Given the description of an element on the screen output the (x, y) to click on. 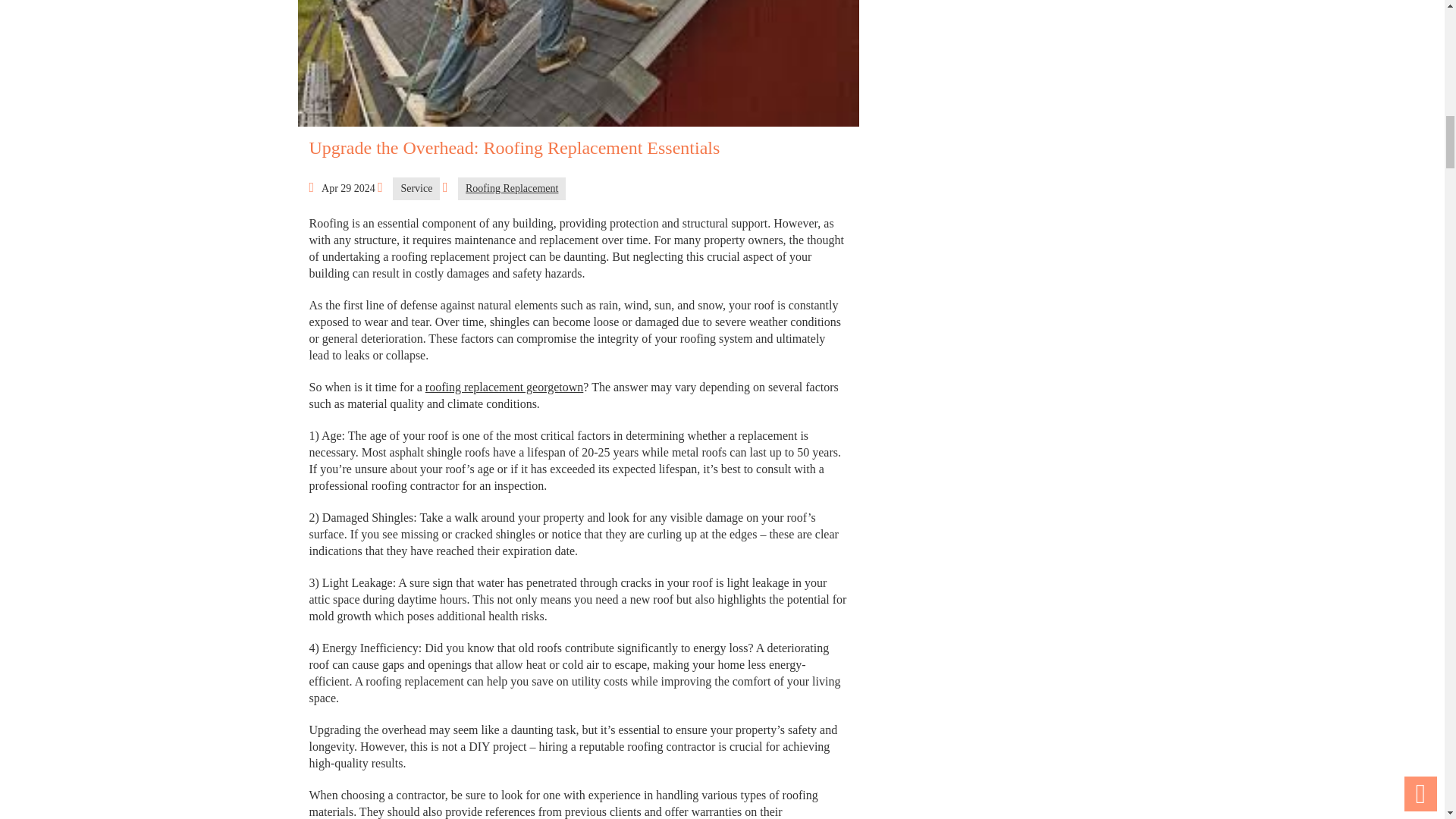
Roofing Replacement (512, 188)
Service (416, 188)
roofing replacement georgetown (504, 386)
